Given the description of an element on the screen output the (x, y) to click on. 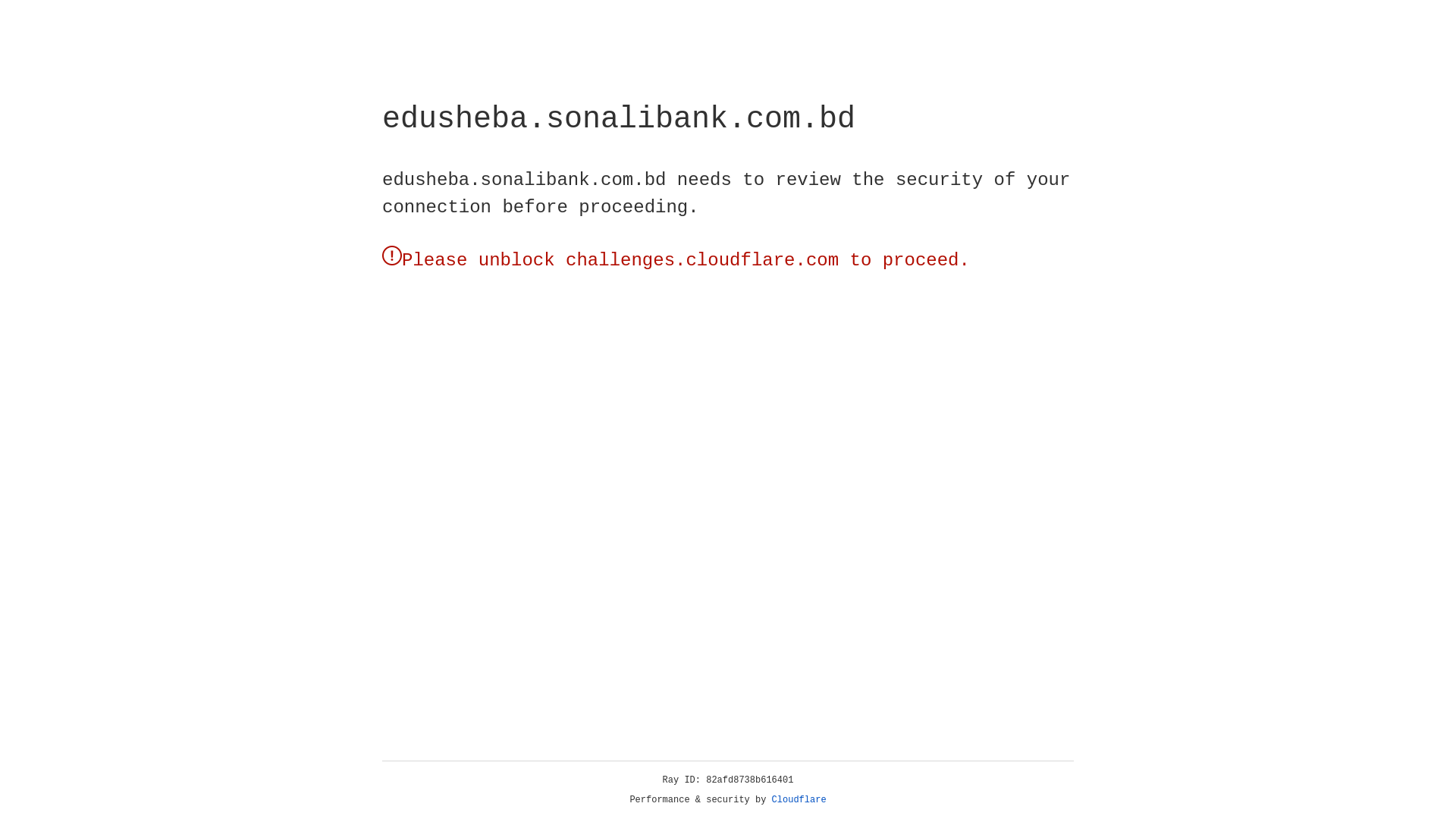
Cloudflare Element type: text (798, 799)
